Given the description of an element on the screen output the (x, y) to click on. 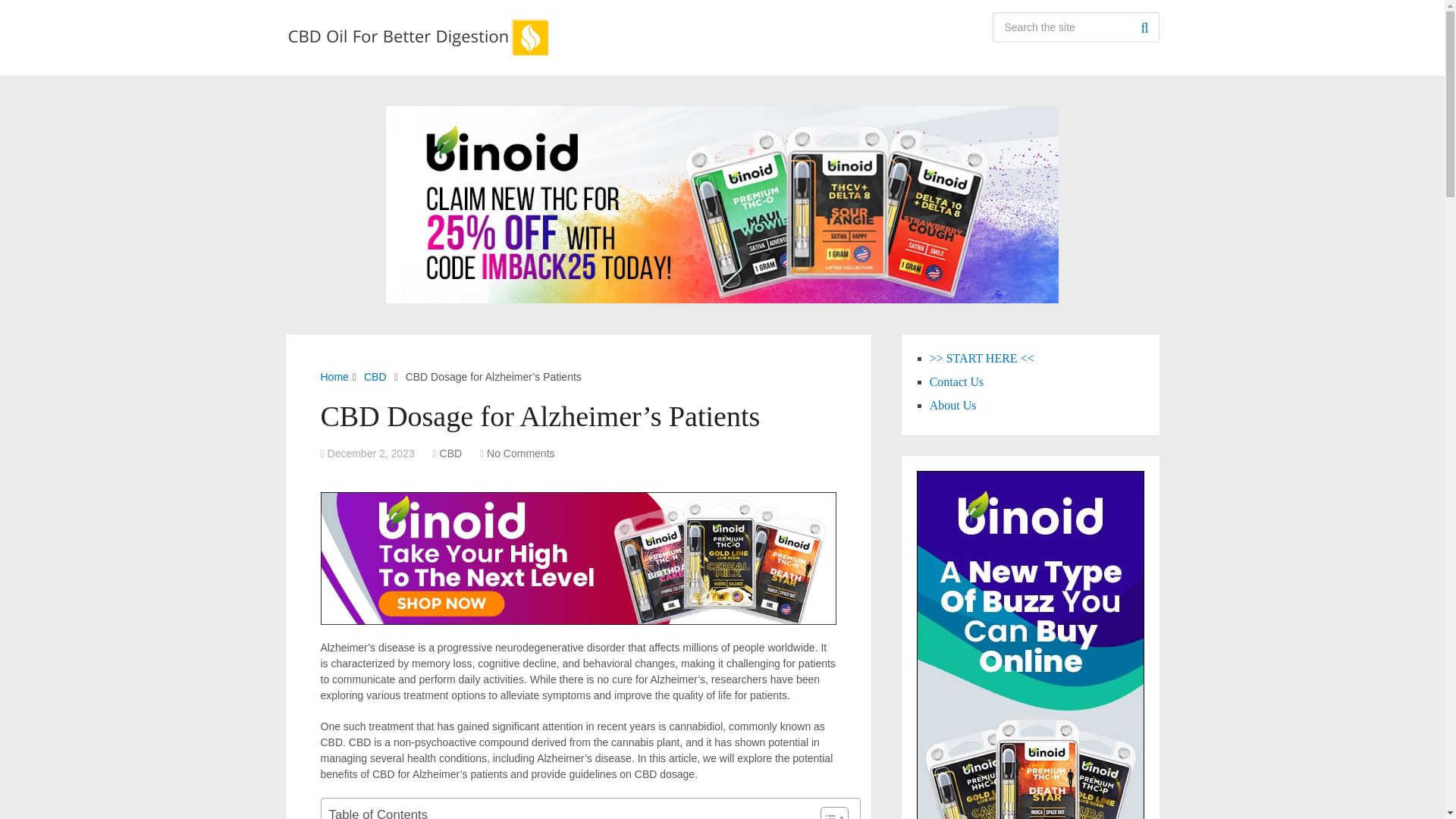
About Us (953, 404)
Contact Us (957, 381)
CBD (375, 377)
View all posts in CBD (451, 453)
CBD (451, 453)
No Comments (520, 453)
Home (333, 377)
Search (1143, 27)
